Given the description of an element on the screen output the (x, y) to click on. 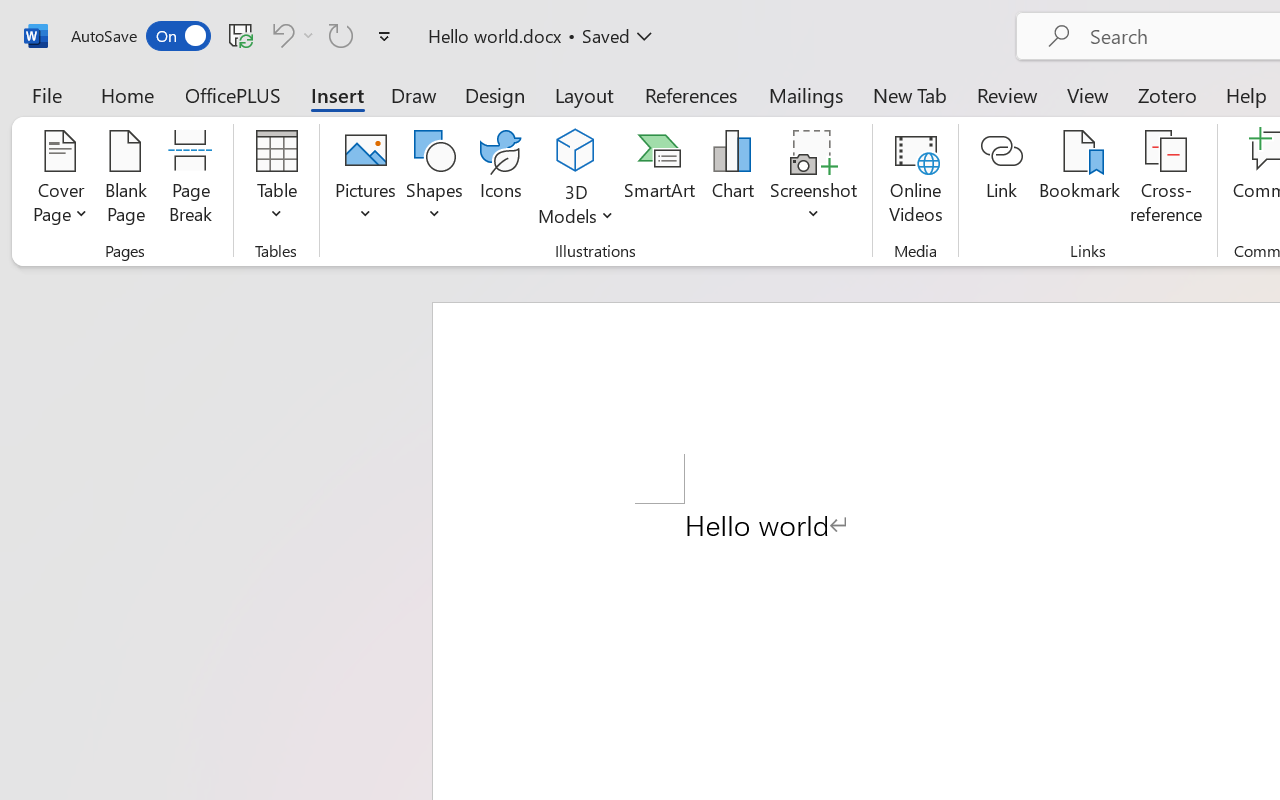
Icons (500, 179)
Bookmark... (1079, 179)
Mailings (806, 94)
Cross-reference... (1165, 179)
More Options (576, 208)
Home (127, 94)
Design (495, 94)
Shapes (435, 179)
References (690, 94)
